Given the description of an element on the screen output the (x, y) to click on. 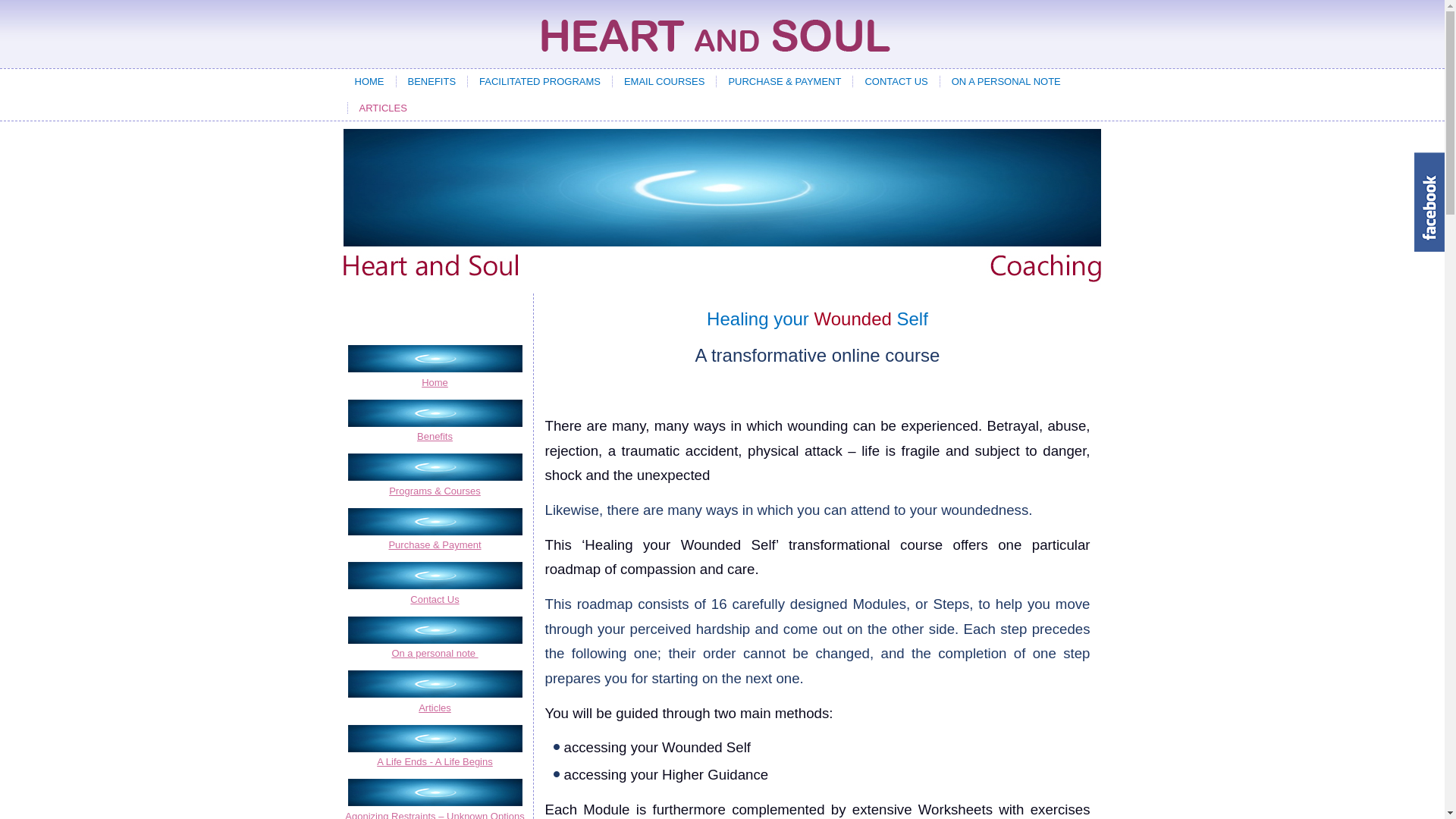
A Life Ends - A Life Begins (433, 757)
CONTACT US (895, 81)
EMAIL COURSES (663, 81)
ARTICLES (383, 108)
BENEFITS (432, 81)
Benefits (433, 431)
Home (433, 366)
Contact Us (433, 594)
ON A PERSONAL NOTE (1005, 81)
On a personal note  (433, 648)
HOME (369, 81)
FACILITATED PROGRAMS (539, 81)
Articles (433, 703)
